Given the description of an element on the screen output the (x, y) to click on. 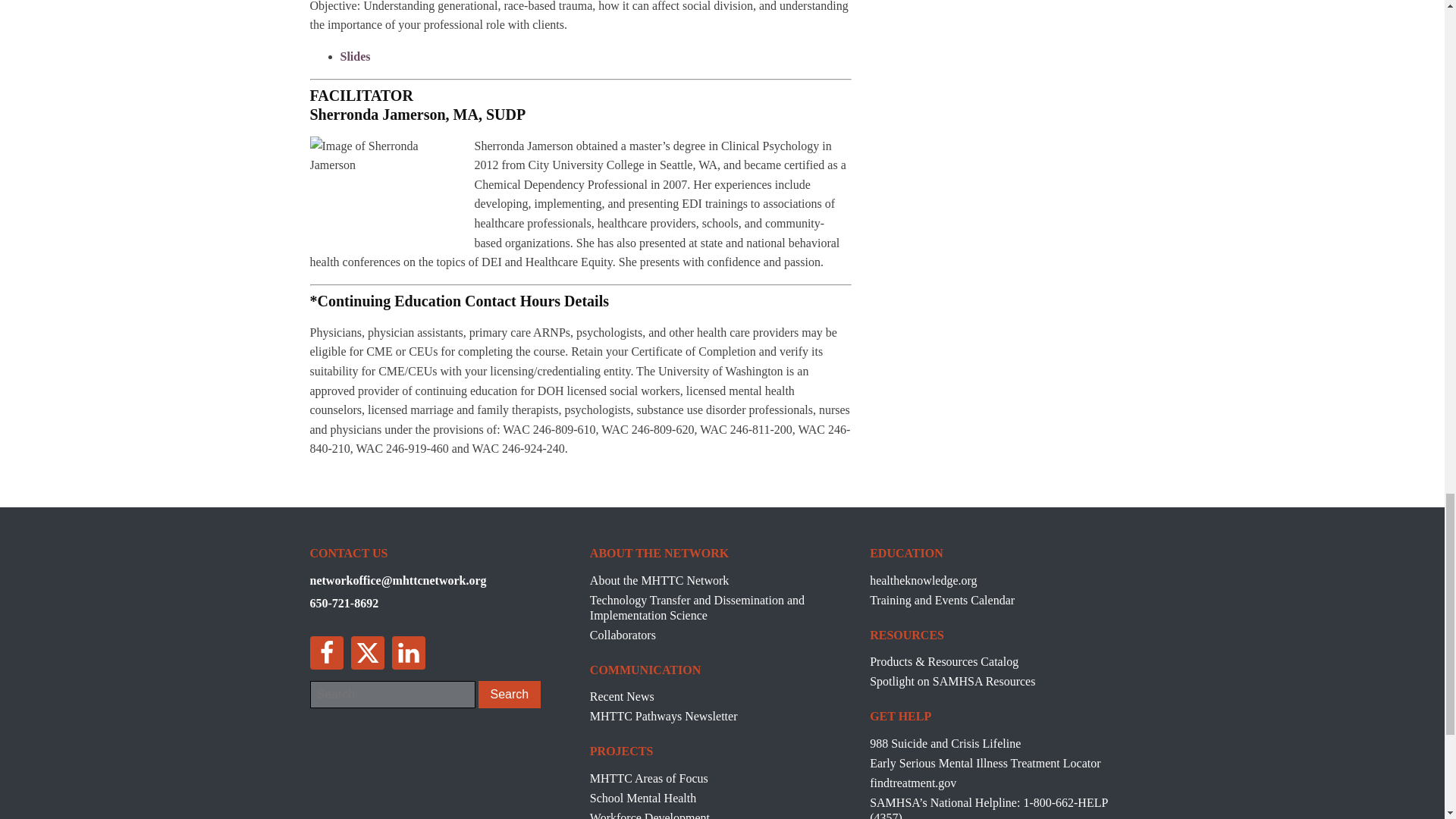
Search (508, 694)
Search (508, 694)
